Given the description of an element on the screen output the (x, y) to click on. 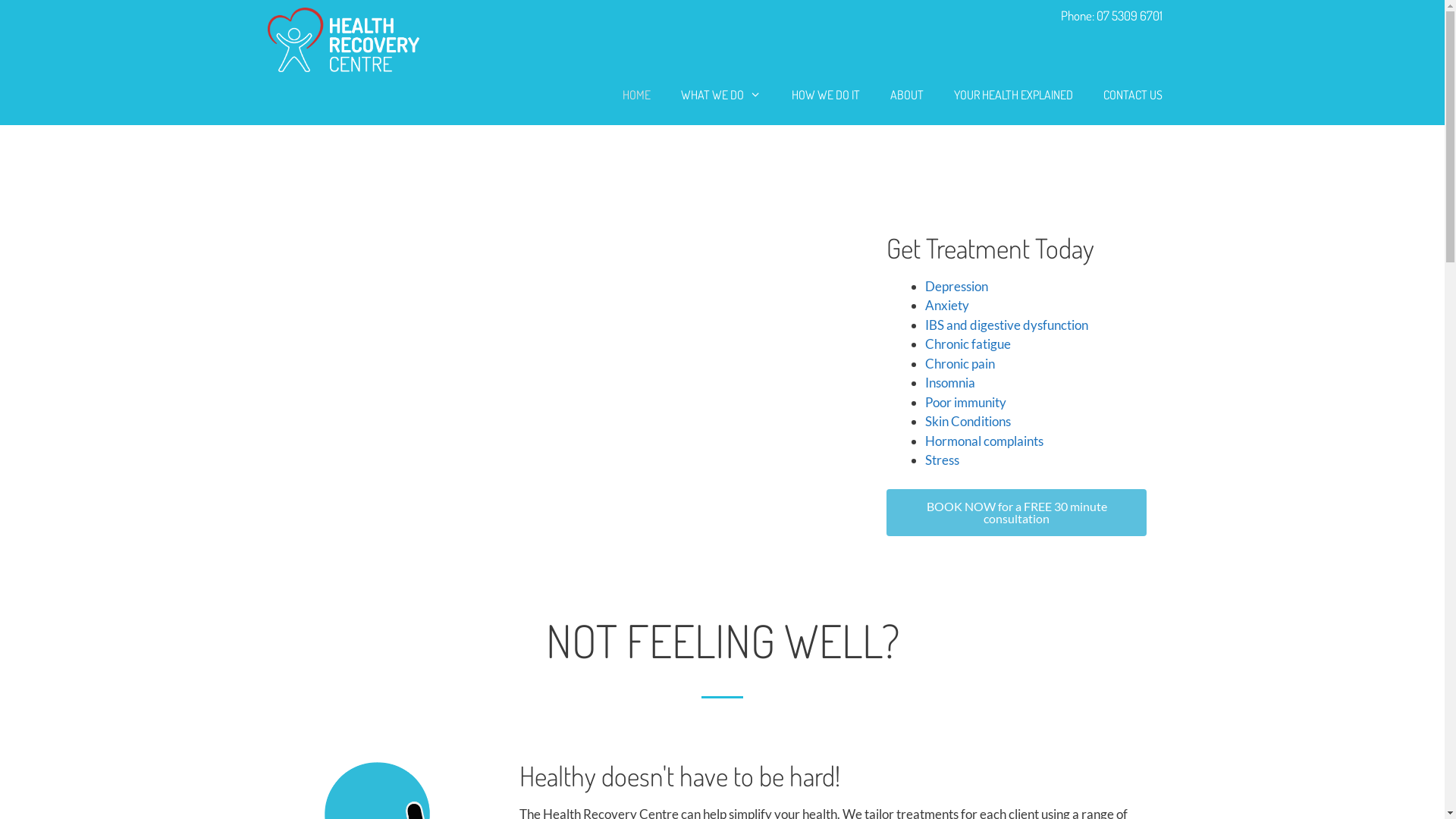
ABOUT Element type: text (906, 94)
Anxiety Element type: text (947, 305)
Chronic pain Element type: text (959, 363)
Hormonal complaints Element type: text (984, 440)
Depression Element type: text (956, 286)
07 5309 6701 Element type: text (1129, 15)
Insomnia Element type: text (950, 382)
CONTACT US Element type: text (1131, 94)
Chronic fatigue Element type: text (967, 343)
YOUR HEALTH EXPLAINED Element type: text (1013, 94)
Stress Element type: text (942, 459)
IBS and digestive dysfunction Element type: text (1006, 324)
Skin Conditions Element type: text (967, 421)
HOW WE DO IT Element type: text (825, 94)
Poor immunity Element type: text (965, 402)
WHAT WE DO Element type: text (720, 94)
BOOK NOW for a FREE 30 minute consultation Element type: text (1016, 512)
HOME Element type: text (636, 94)
